Given the description of an element on the screen output the (x, y) to click on. 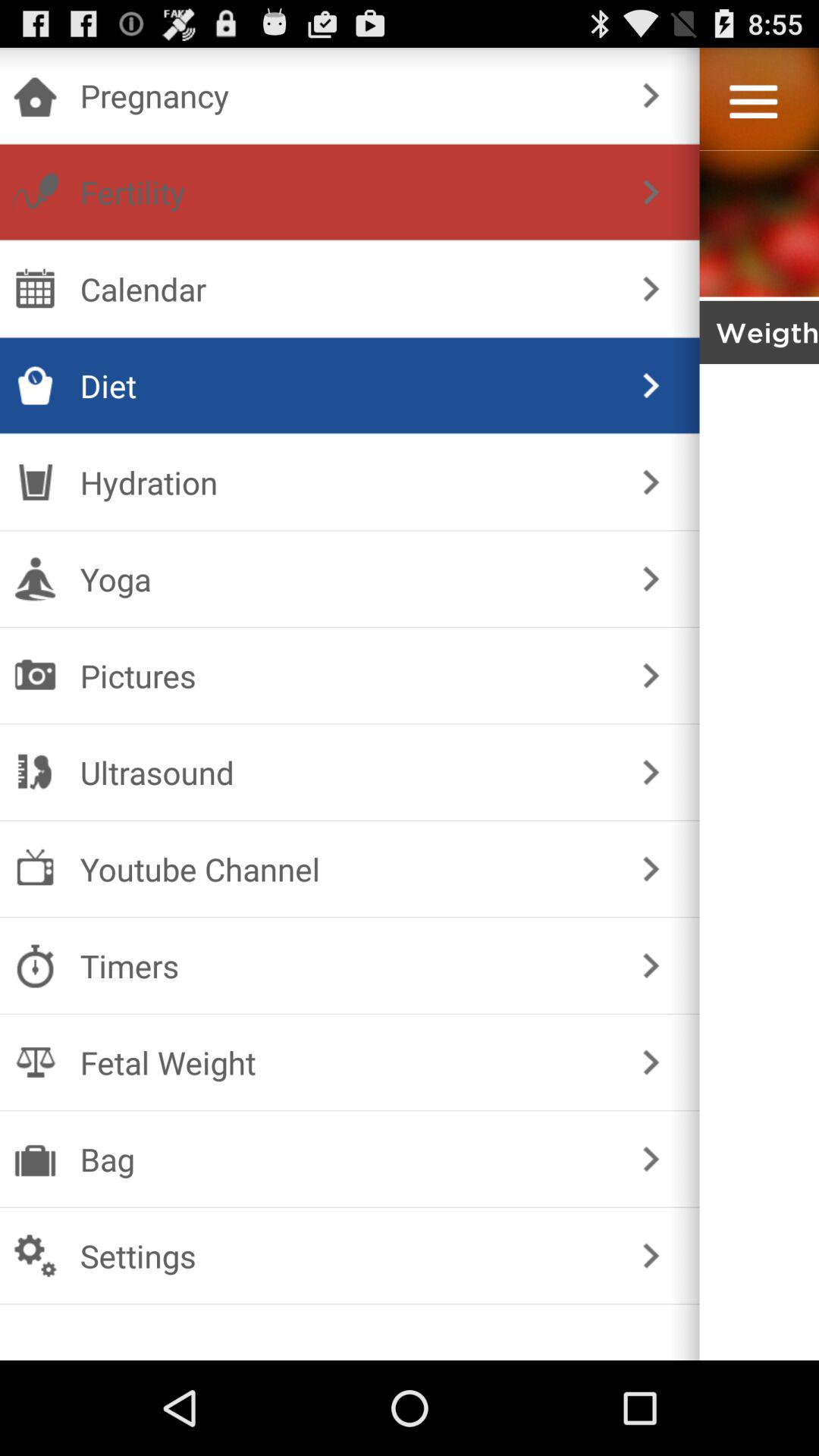
open the item above the calendar item (346, 191)
